Given the description of an element on the screen output the (x, y) to click on. 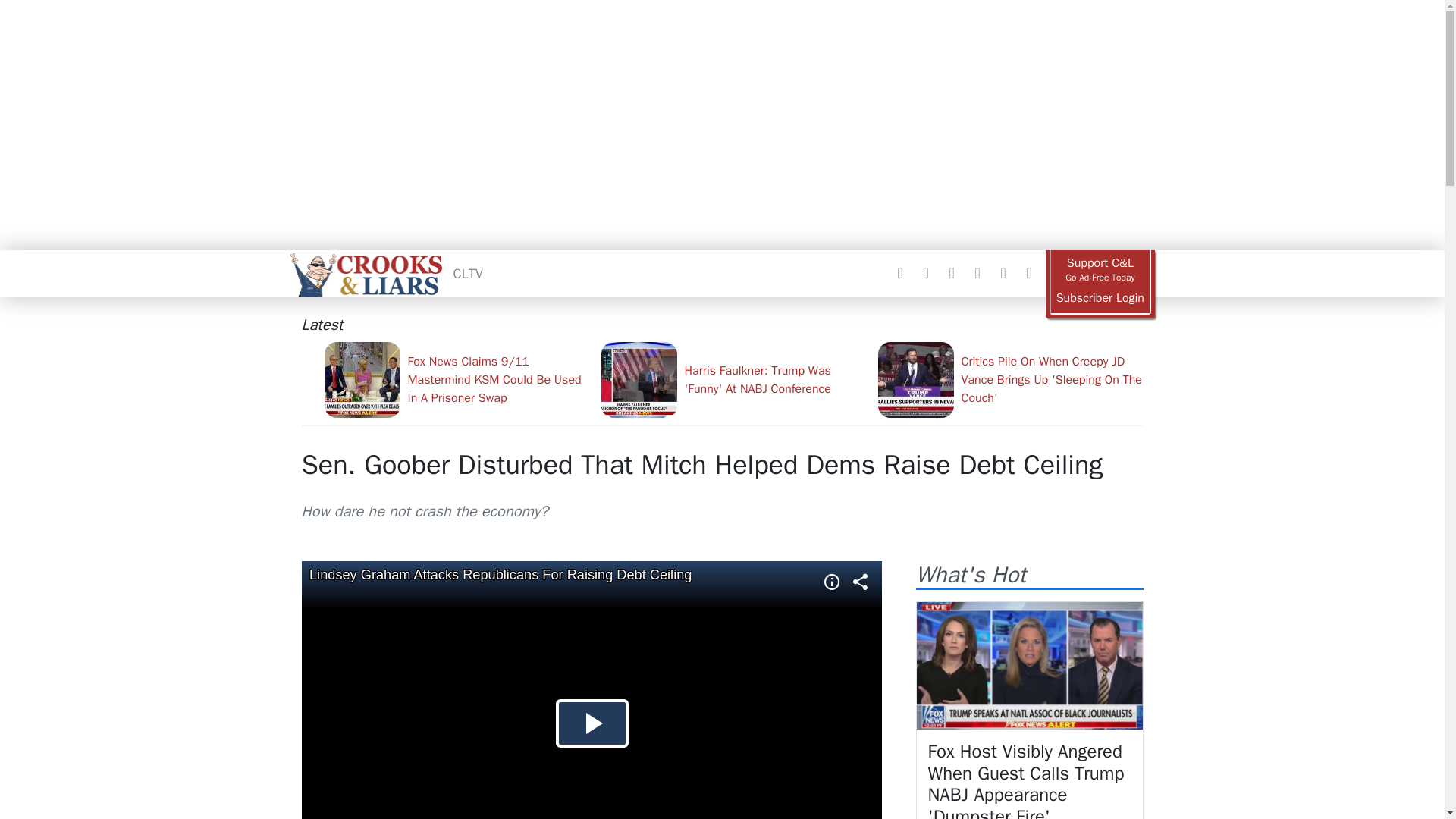
Go ad free today! (1099, 270)
CLTV (467, 273)
Subscriber Login (1099, 298)
Harris Faulkner: Trump Was 'Funny' At NABJ Conference (732, 379)
Login to your ad free account (1099, 298)
Harris Faulkner: Trump Was 'Funny' At NABJ Conference (732, 379)
